Given the description of an element on the screen output the (x, y) to click on. 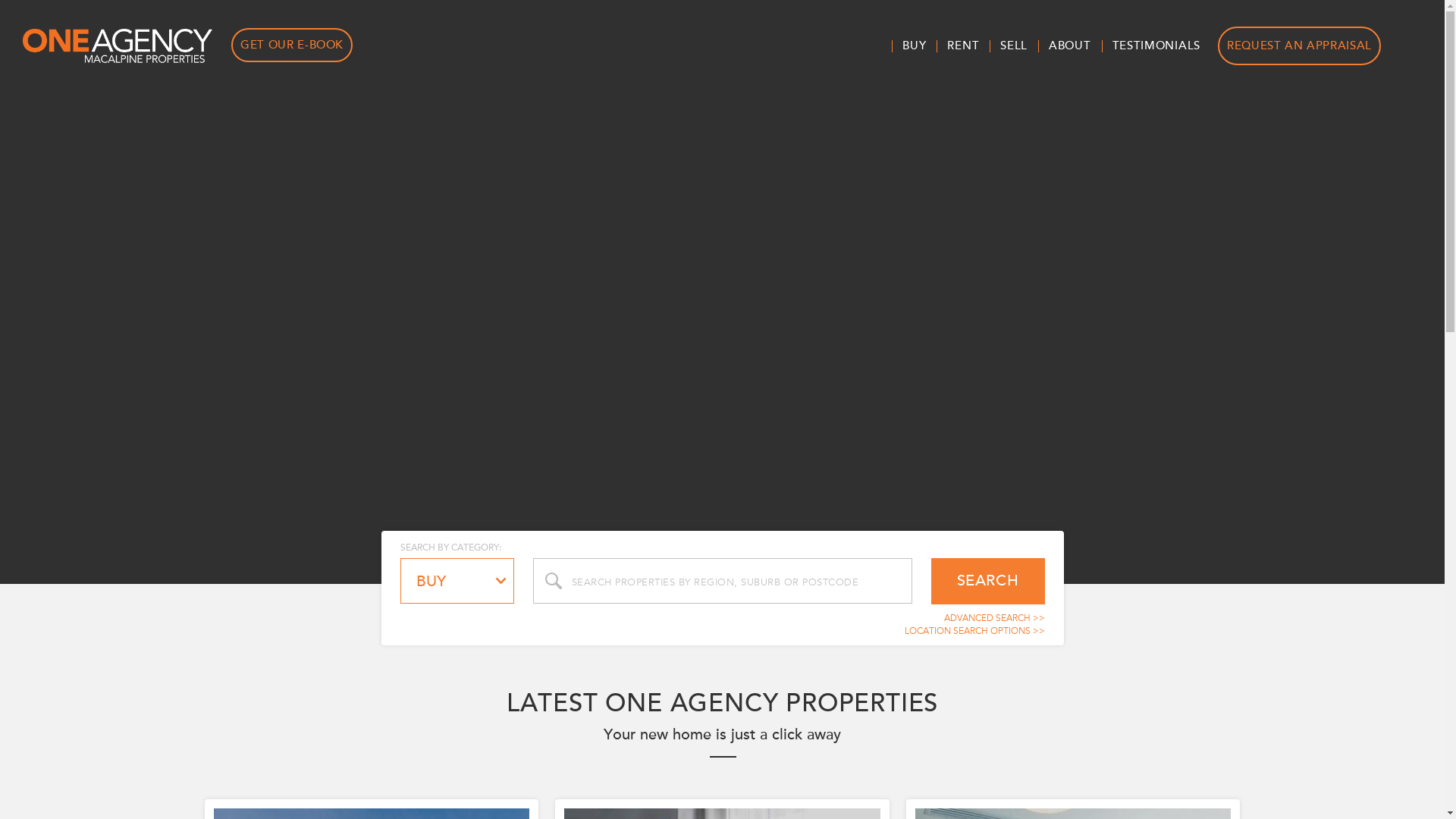
RENT Element type: text (962, 45)
TESTIMONIALS Element type: text (1156, 45)
ABOUT Element type: text (1069, 45)
REQUEST AN APPRAISAL Element type: text (1298, 45)
SELL Element type: text (1013, 45)
ADVANCED SEARCH >> Element type: text (993, 617)
LOCATION SEARCH OPTIONS >> Element type: text (973, 630)
BUY Element type: text (457, 580)
BUY Element type: text (913, 45)
GET OUR E-BOOK Element type: text (291, 45)
SEARCH Element type: text (987, 581)
